Given the description of an element on the screen output the (x, y) to click on. 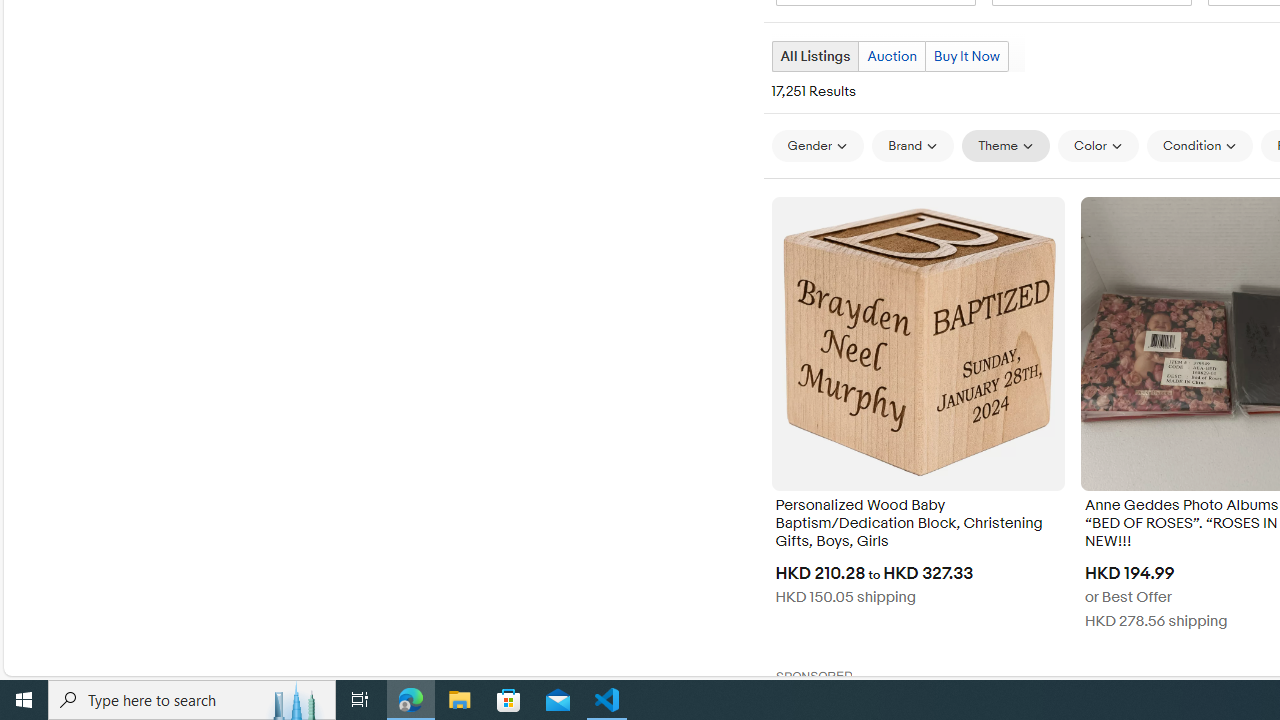
All Listings Current view (814, 56)
Buy It Now (966, 56)
Theme (1006, 145)
